Given the description of an element on the screen output the (x, y) to click on. 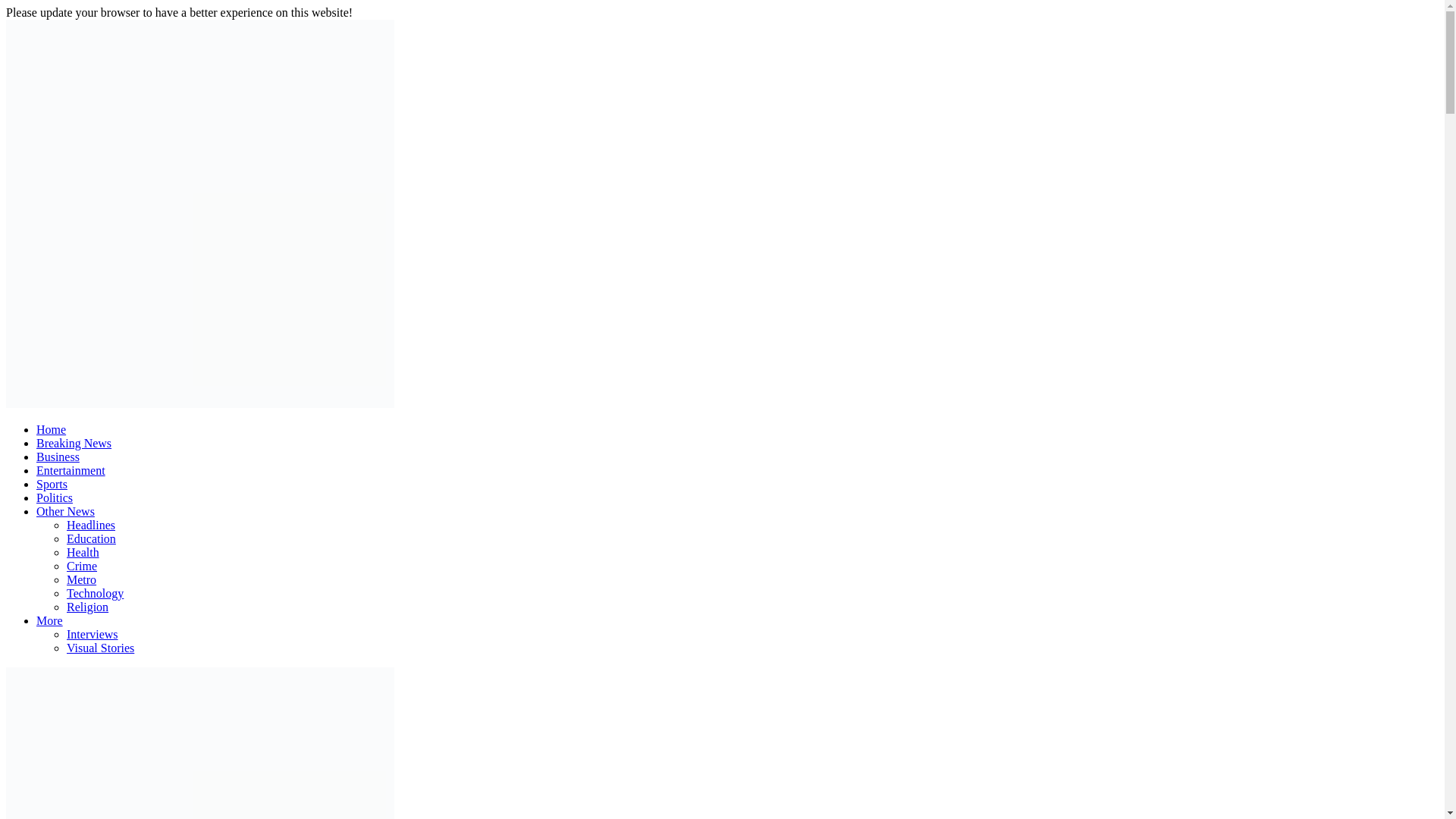
Health (82, 552)
Visual Stories (99, 647)
Education (91, 538)
Business (58, 456)
Headlines (90, 524)
Religion (86, 606)
Politics (54, 497)
Home (50, 429)
Other News (65, 511)
More (49, 620)
